Given the description of an element on the screen output the (x, y) to click on. 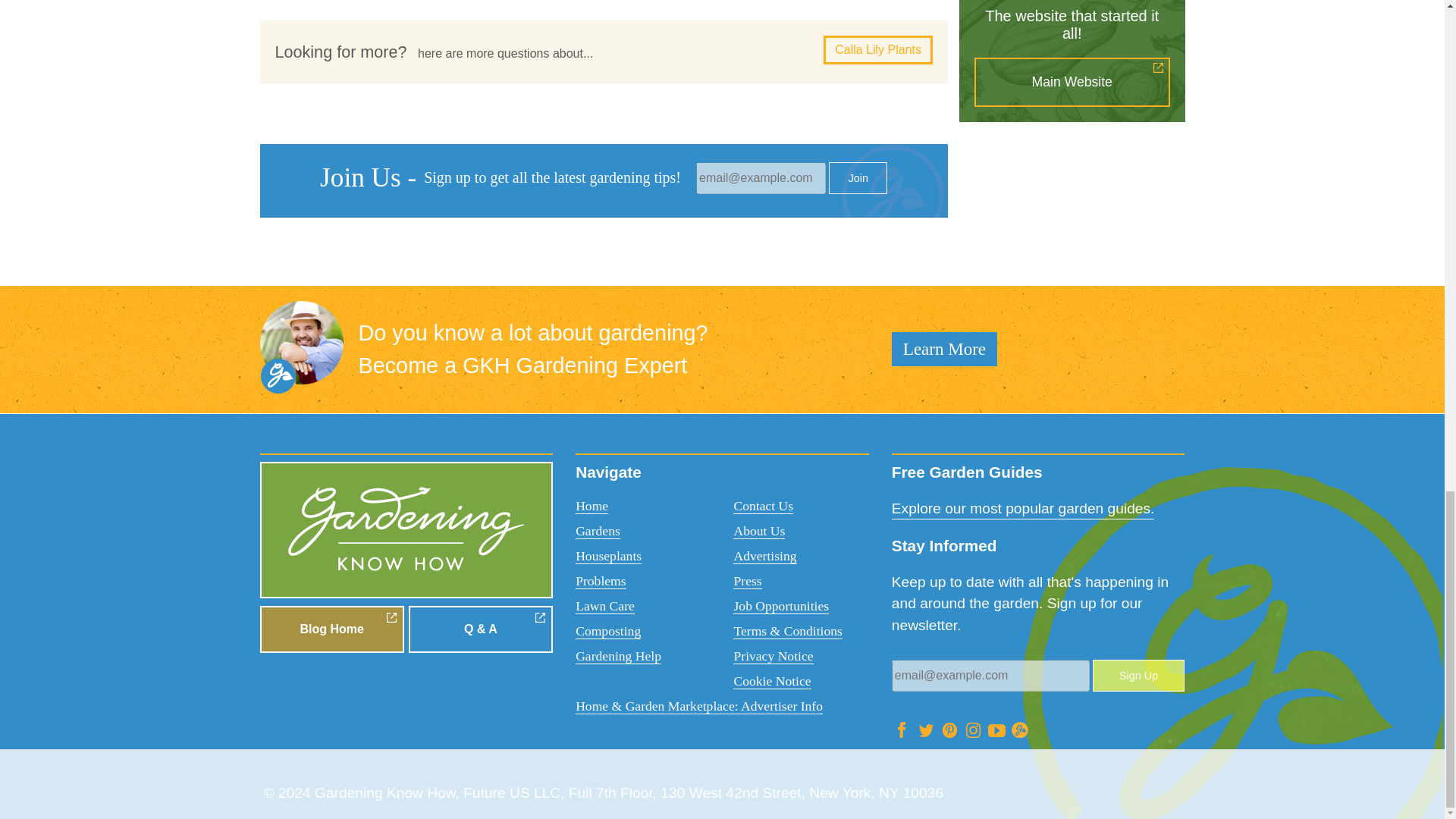
Join (857, 178)
Calla Lily Plants (878, 50)
